Given the description of an element on the screen output the (x, y) to click on. 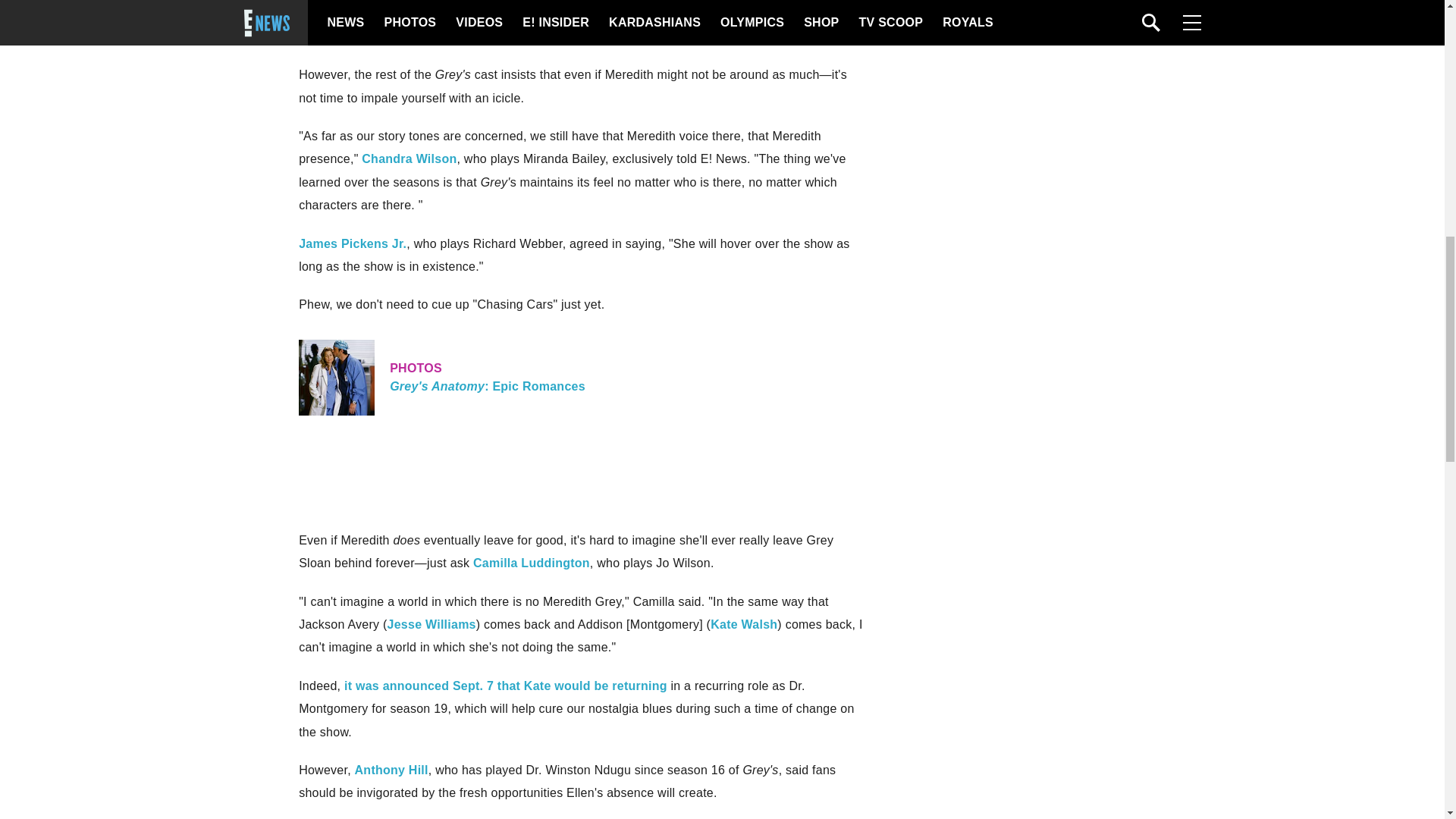
James Pickens Jr. (352, 243)
Jesse Williams (431, 624)
Camilla Luddington (581, 377)
it was announced Sept. 7 that Kate would be returning (531, 562)
Chandra Wilson (504, 685)
Kate Walsh (409, 158)
